Given the description of an element on the screen output the (x, y) to click on. 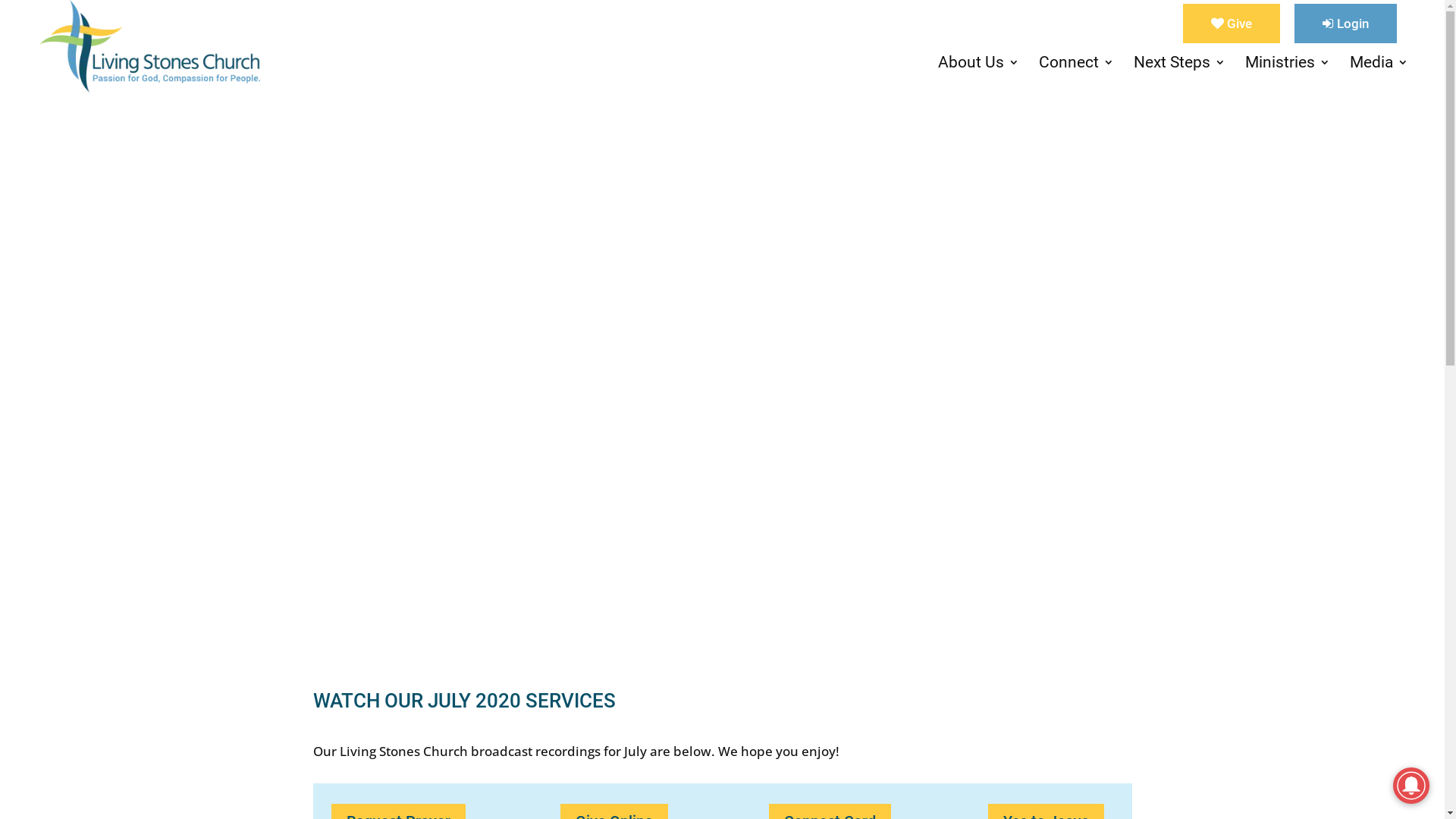
Give Element type: text (1231, 23)
Connect Element type: text (1075, 74)
About Us Element type: text (978, 74)
Media Element type: text (1378, 74)
Ministries Element type: text (1287, 74)
Next Steps Element type: text (1179, 74)
Login Element type: text (1345, 23)
